Given the description of an element on the screen output the (x, y) to click on. 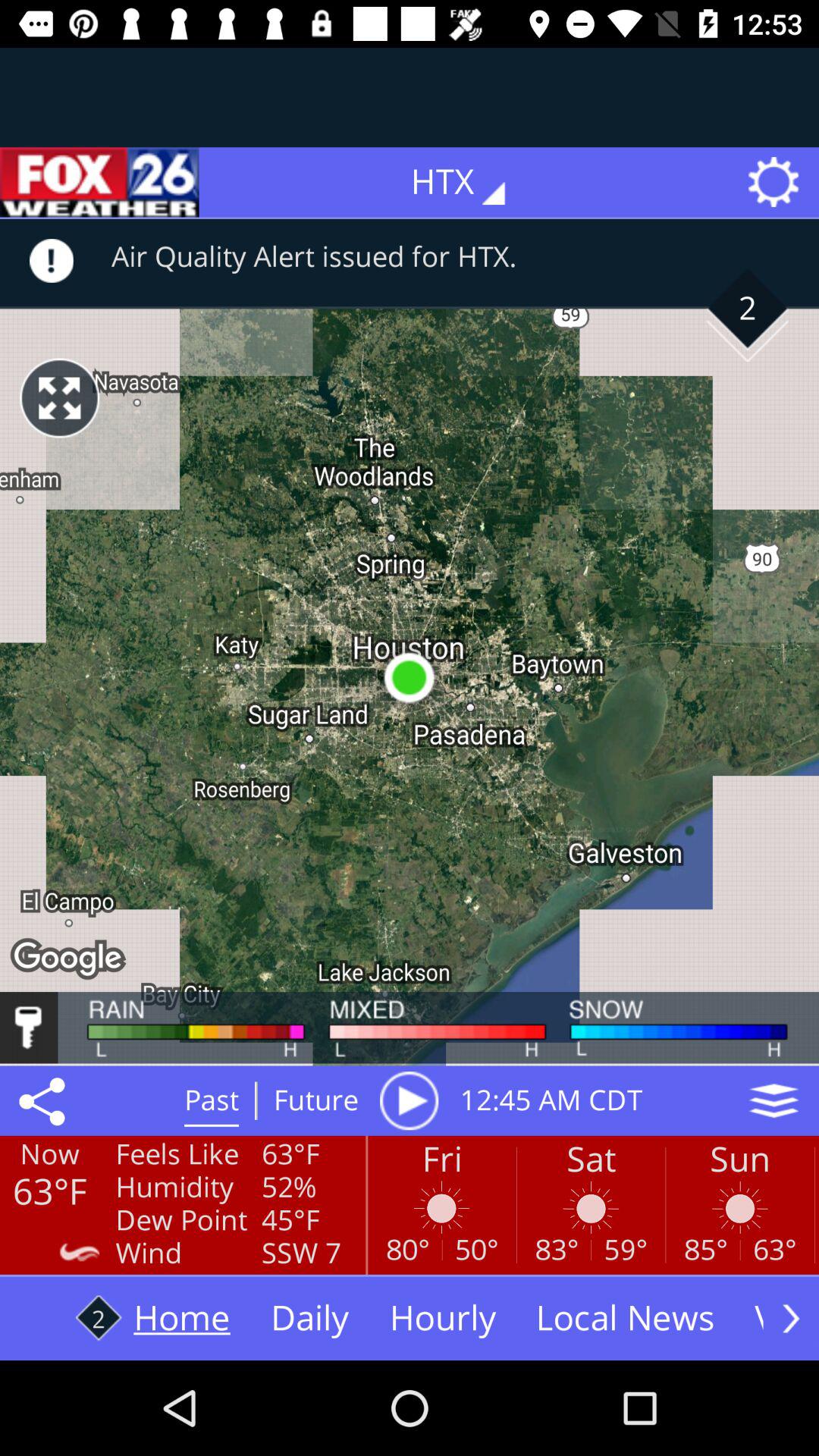
click on htx (468, 181)
